Given the description of an element on the screen output the (x, y) to click on. 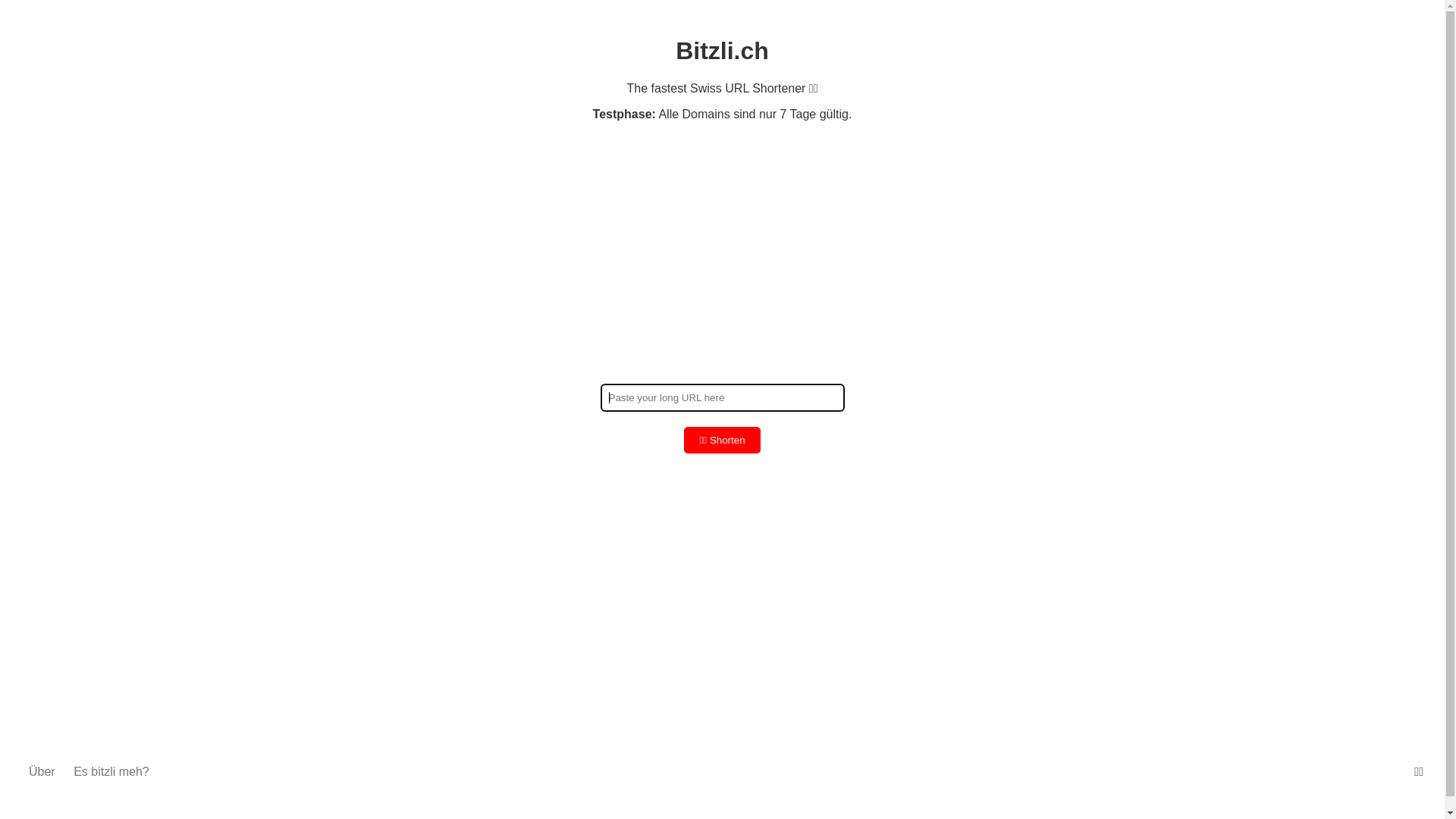
Es bitzli meh? Element type: text (111, 771)
